Given the description of an element on the screen output the (x, y) to click on. 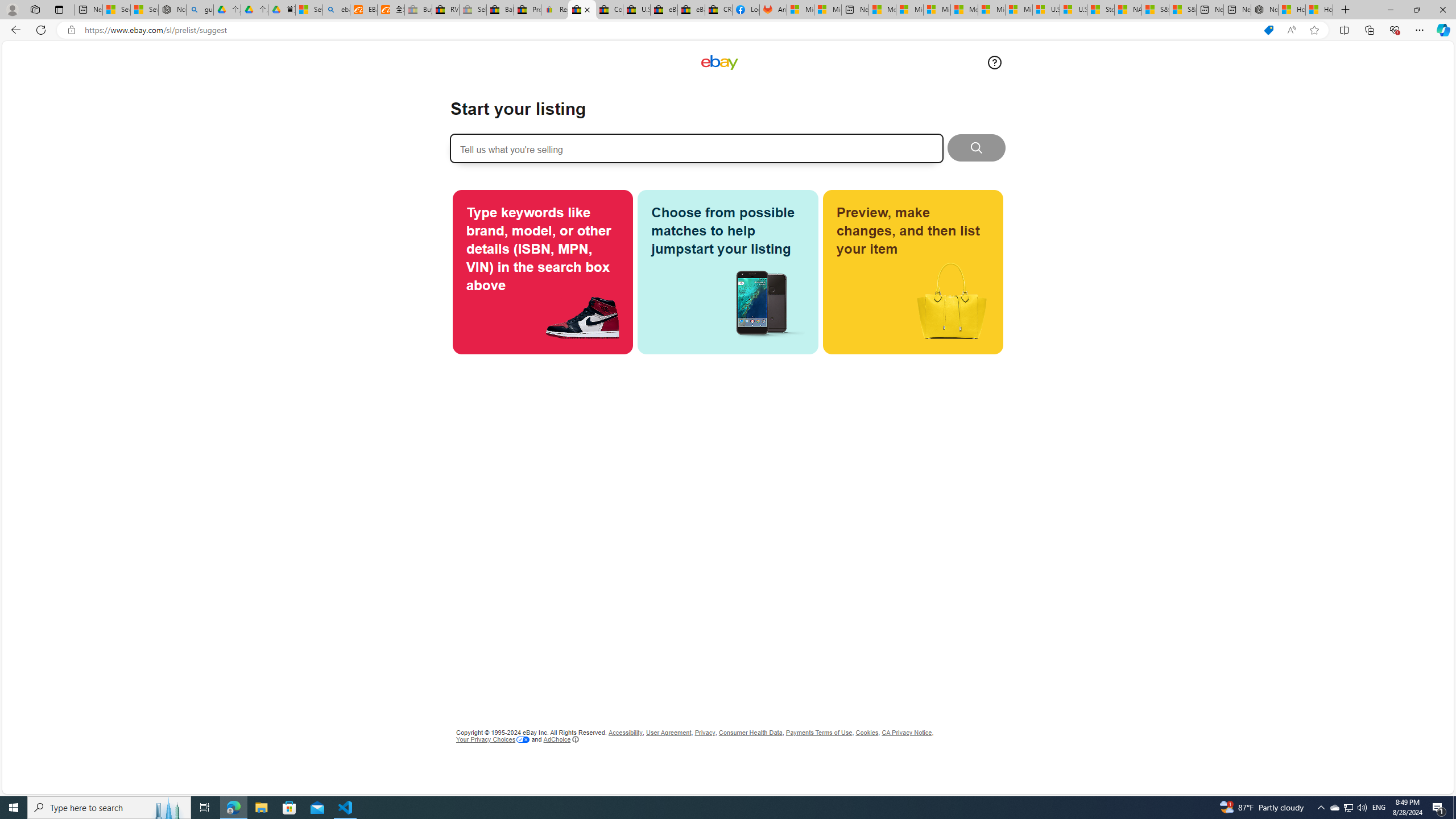
eBay Inc. Reports Third Quarter 2023 Results (691, 9)
Accessibility (625, 732)
Cookies (867, 732)
AdChoice (561, 739)
RV, Trailer & Camper Steps & Ladders for sale | eBay (445, 9)
List an item | eBay (581, 9)
Consumer Health Data Privacy Policy - eBay Inc. (609, 9)
This site has coupons! Shopping in Microsoft Edge (1268, 29)
